Given the description of an element on the screen output the (x, y) to click on. 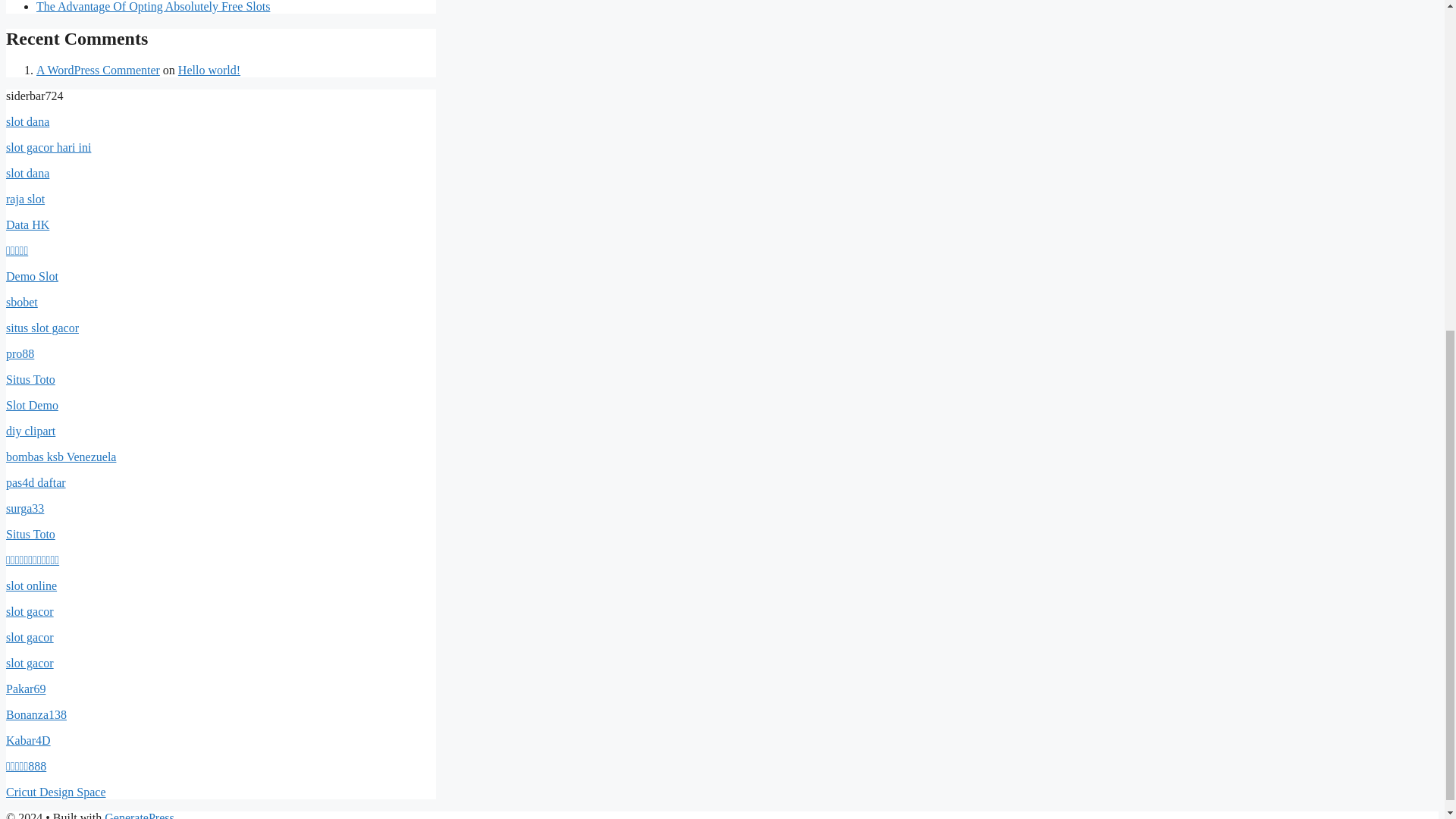
slot online (30, 585)
slot gacor (29, 611)
situs slot gacor (41, 327)
Demo Slot (31, 276)
surga33 (24, 508)
slot gacor hari ini (47, 146)
slot dana (27, 121)
slot gacor (29, 636)
The Advantage Of Opting Absolutely Free Slots (152, 6)
Situs Toto (30, 533)
bombas ksb Venezuela (60, 456)
Slot Demo (31, 404)
sbobet (21, 301)
pro88 (19, 353)
Hello world! (208, 69)
